Given the description of an element on the screen output the (x, y) to click on. 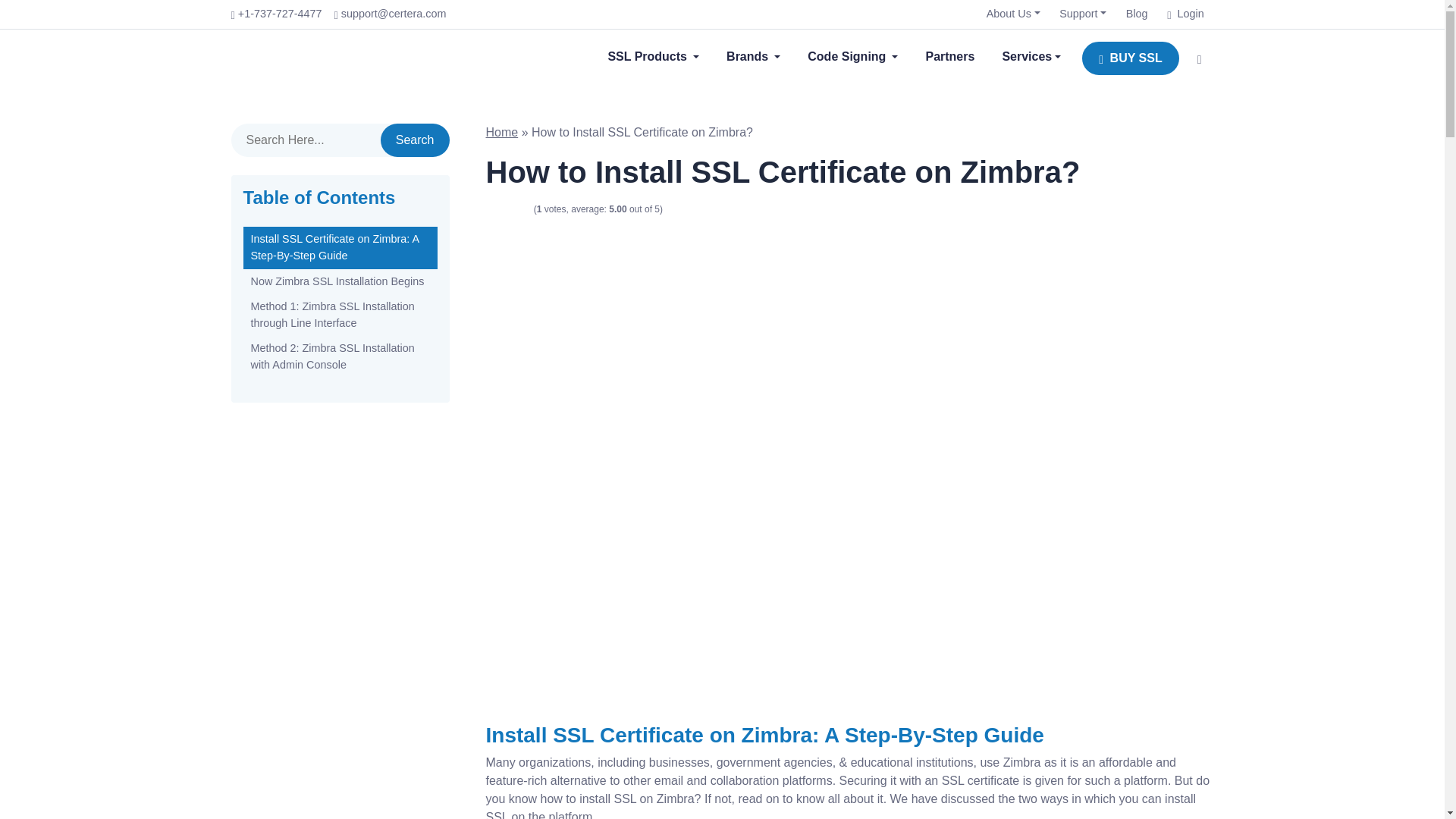
3 Stars (507, 208)
Brands (753, 56)
2 Stars (499, 208)
Blog (1136, 14)
About Us (1012, 14)
5 Stars (526, 208)
4 Stars (516, 208)
Login (1184, 14)
Support (1082, 14)
1 Star (489, 208)
SSL Products (652, 56)
